Given the description of an element on the screen output the (x, y) to click on. 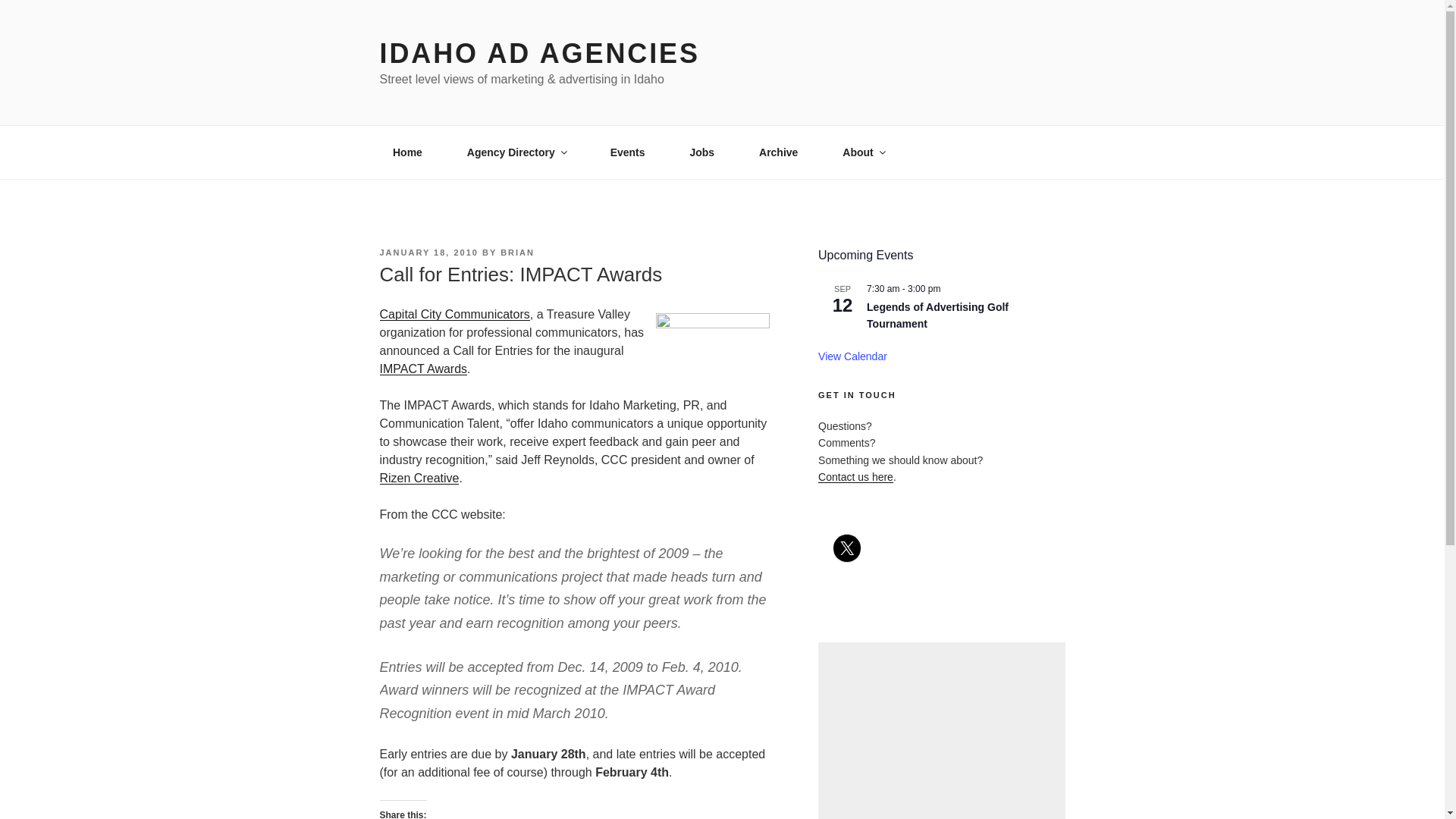
Events (627, 151)
IMPACT Awards (713, 332)
JANUARY 18, 2010 (427, 252)
About (862, 151)
IDAHO AD AGENCIES (538, 52)
IMPACT Awards (422, 368)
BRIAN (517, 252)
Agency Directory (515, 151)
Advertisement (941, 730)
View more events. (852, 356)
Legends of Advertising Golf Tournament (937, 316)
View Calendar (852, 356)
Rizen Creative (418, 477)
Legends of Advertising Golf Tournament (937, 316)
Jobs (702, 151)
